Given the description of an element on the screen output the (x, y) to click on. 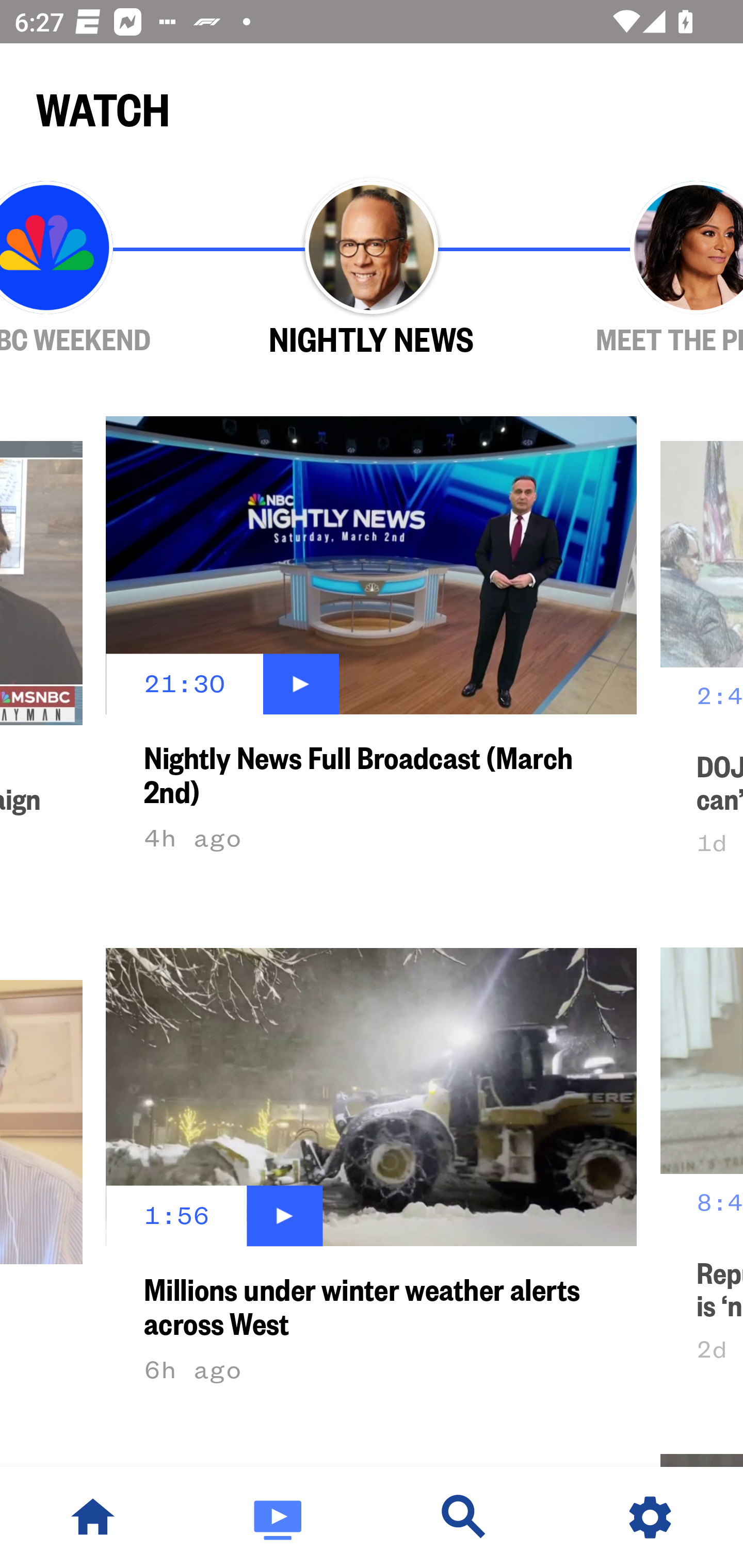
MSNBC WEEKEND (104, 268)
NIGHTLY NEWS (371, 268)
MEET THE PRESS (638, 268)
NBC News Home (92, 1517)
Discover (464, 1517)
Settings (650, 1517)
